Given the description of an element on the screen output the (x, y) to click on. 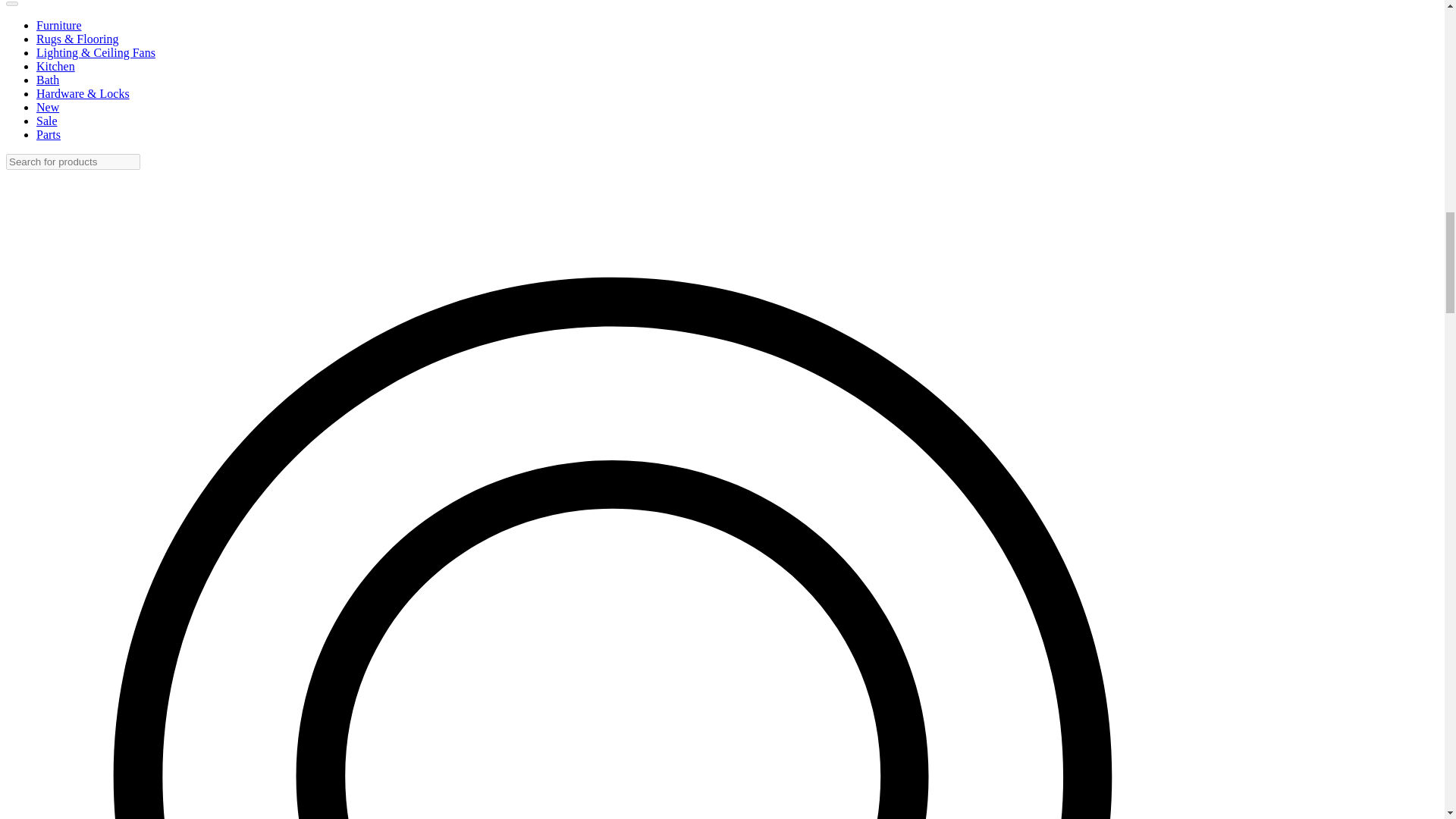
Sale (47, 120)
New (47, 106)
Furniture (58, 24)
Parts (48, 133)
Bath (47, 79)
Kitchen (55, 65)
